Given the description of an element on the screen output the (x, y) to click on. 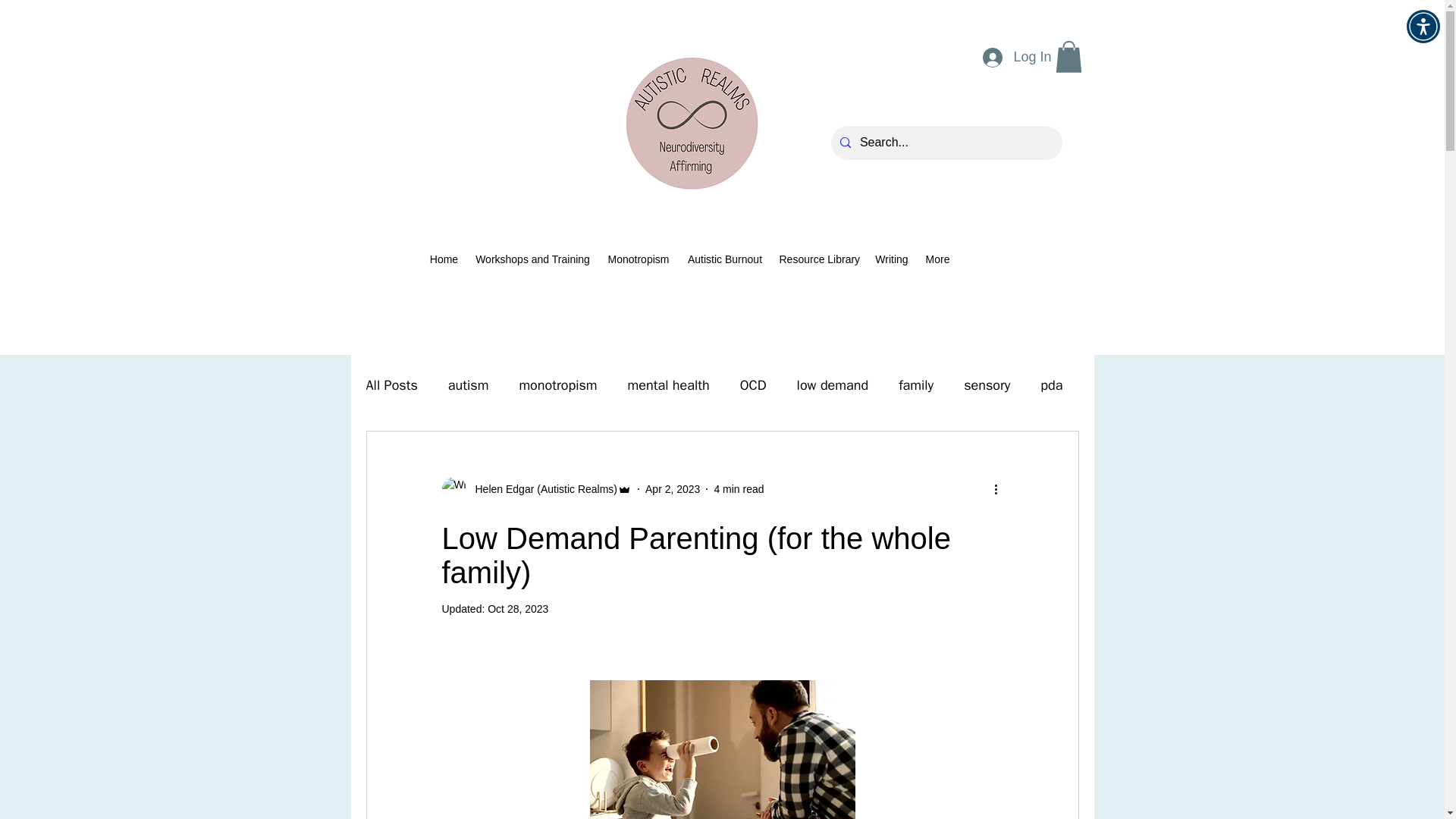
Home (444, 259)
monotropism (557, 384)
Resource Library (818, 259)
autism (468, 384)
Monotropism (638, 259)
family (915, 384)
pda (1051, 384)
Autistic Burnout (724, 259)
low demand (832, 384)
Accessibility Menu (1422, 26)
Apr 2, 2023 (672, 488)
sensory (986, 384)
4 min read (737, 488)
All Posts (390, 384)
Workshops and Training (532, 259)
